Given the description of an element on the screen output the (x, y) to click on. 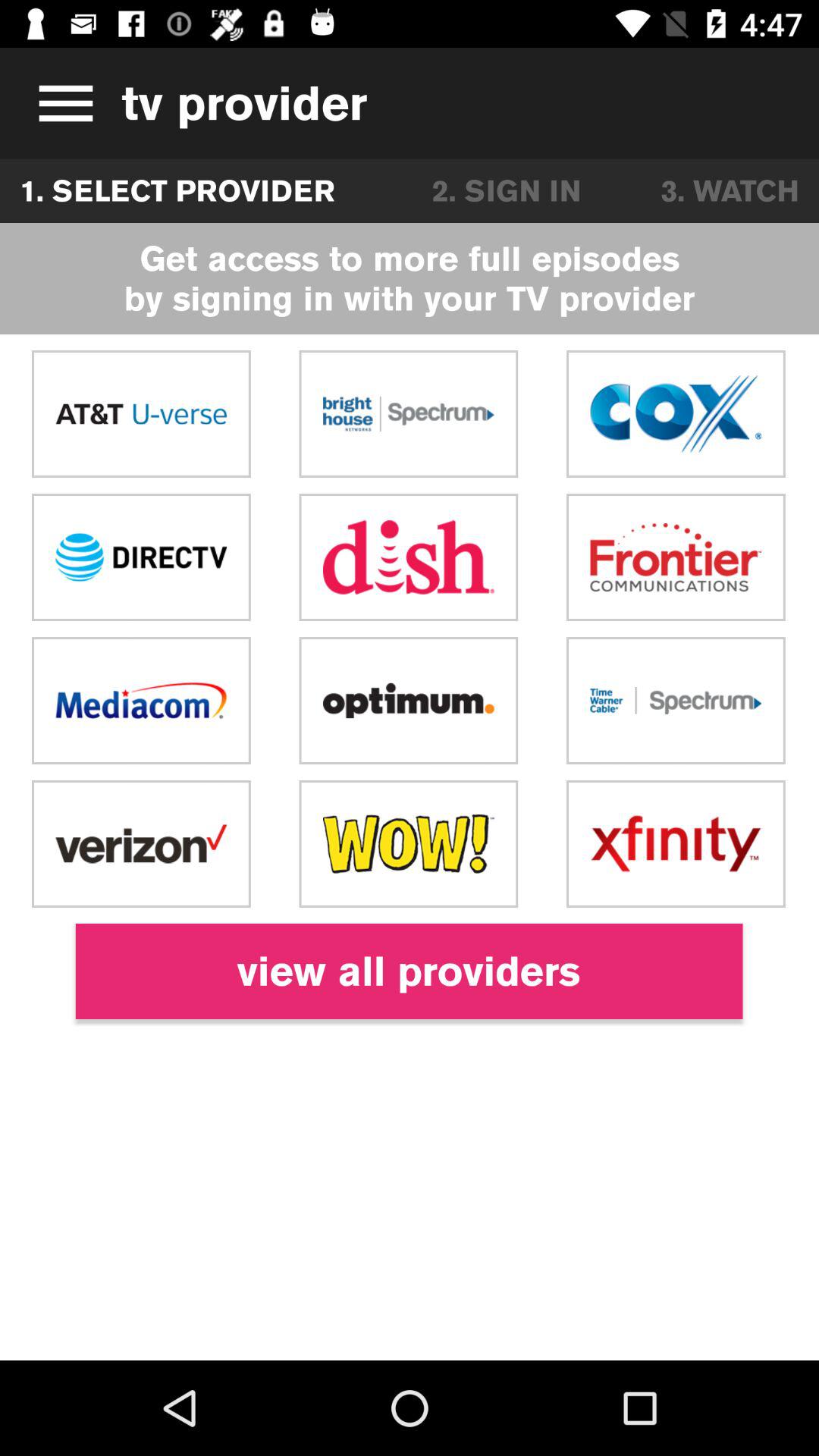
turn off the view all providers icon (408, 971)
